Given the description of an element on the screen output the (x, y) to click on. 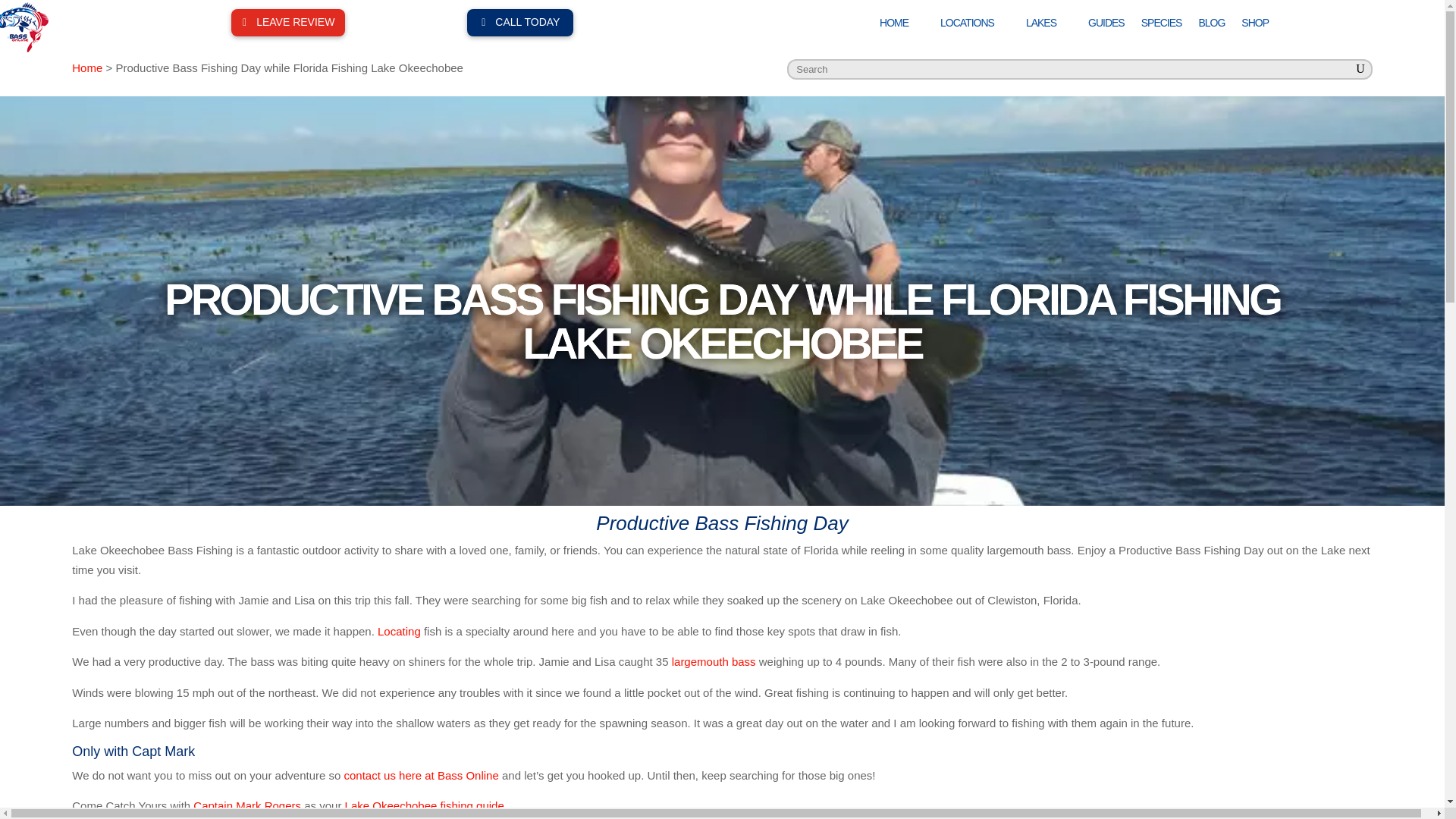
Bass Fishing Experiences (24, 27)
LEAVE REVIEW (288, 22)
GUIDES (1105, 25)
LOCATIONS (974, 25)
CALL TODAY (520, 22)
SHOP (1254, 25)
LOCATIONS (974, 25)
Bass Online (901, 25)
SPECIES (1161, 25)
Lakes (1048, 25)
